Given the description of an element on the screen output the (x, y) to click on. 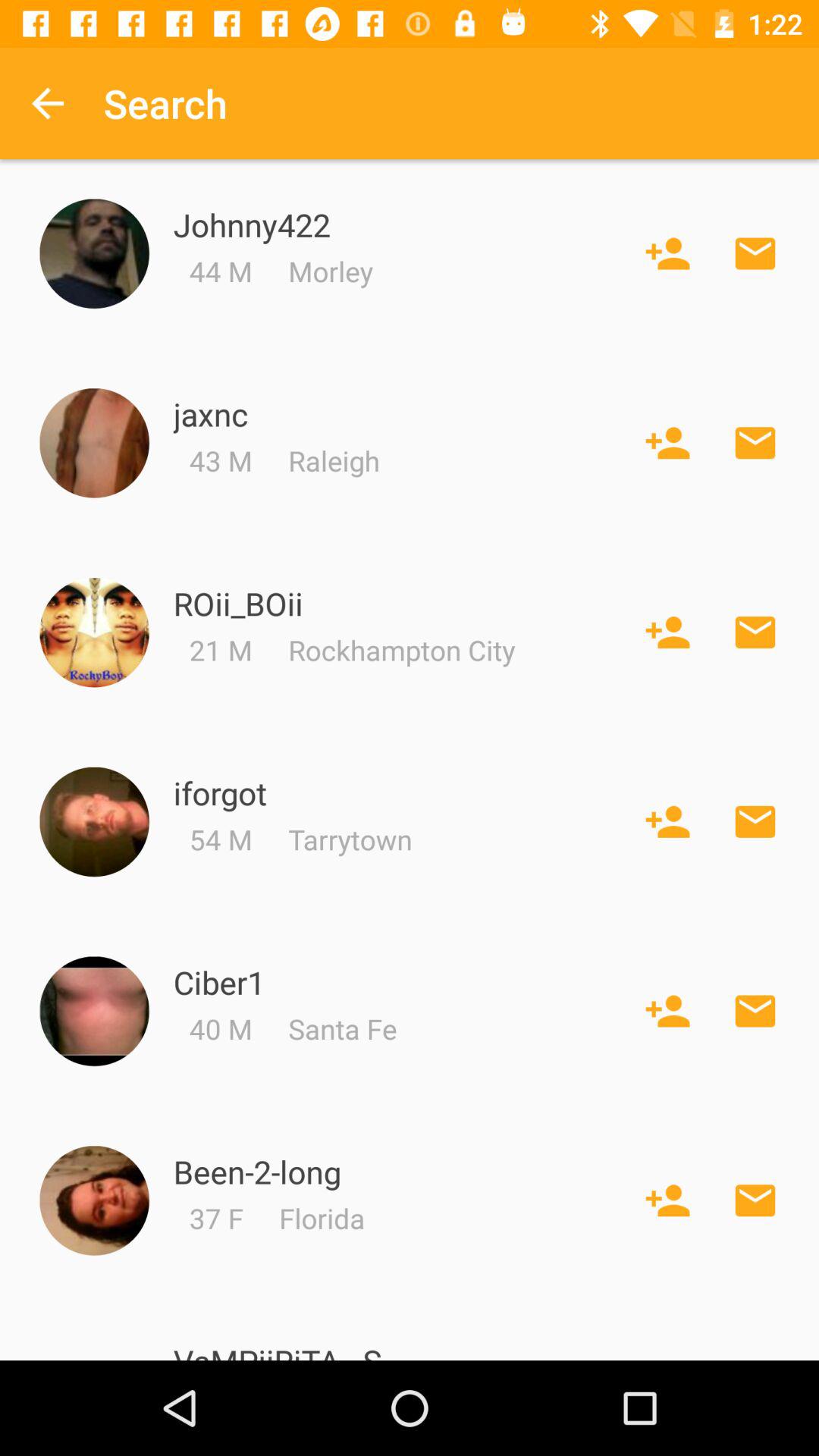
view profile (94, 253)
